Given the description of an element on the screen output the (x, y) to click on. 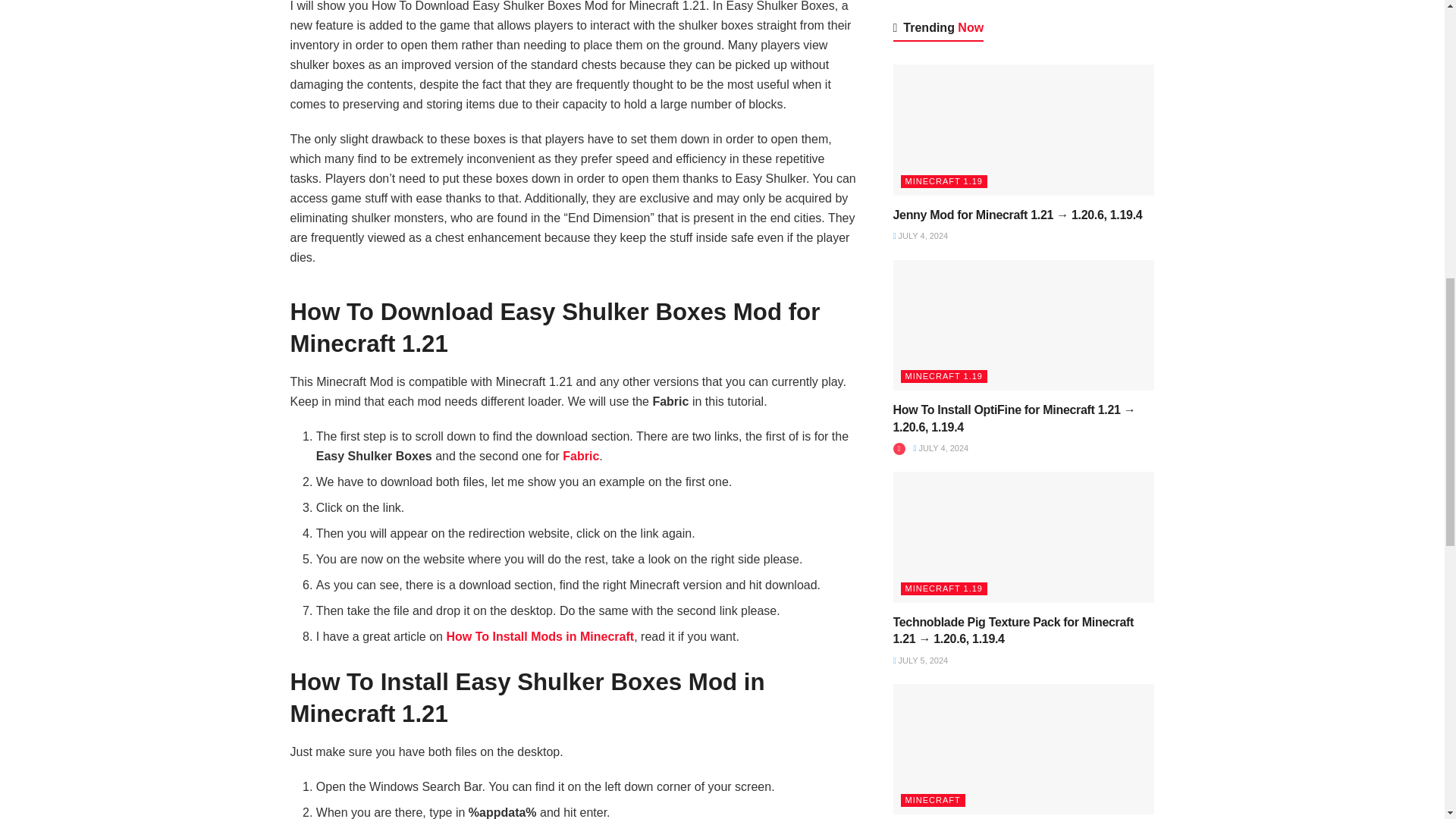
MINECRAFT 1.19 (944, 181)
How To Install Mods in Minecraft (539, 635)
Fabric (580, 455)
JULY 4, 2024 (921, 235)
